Given the description of an element on the screen output the (x, y) to click on. 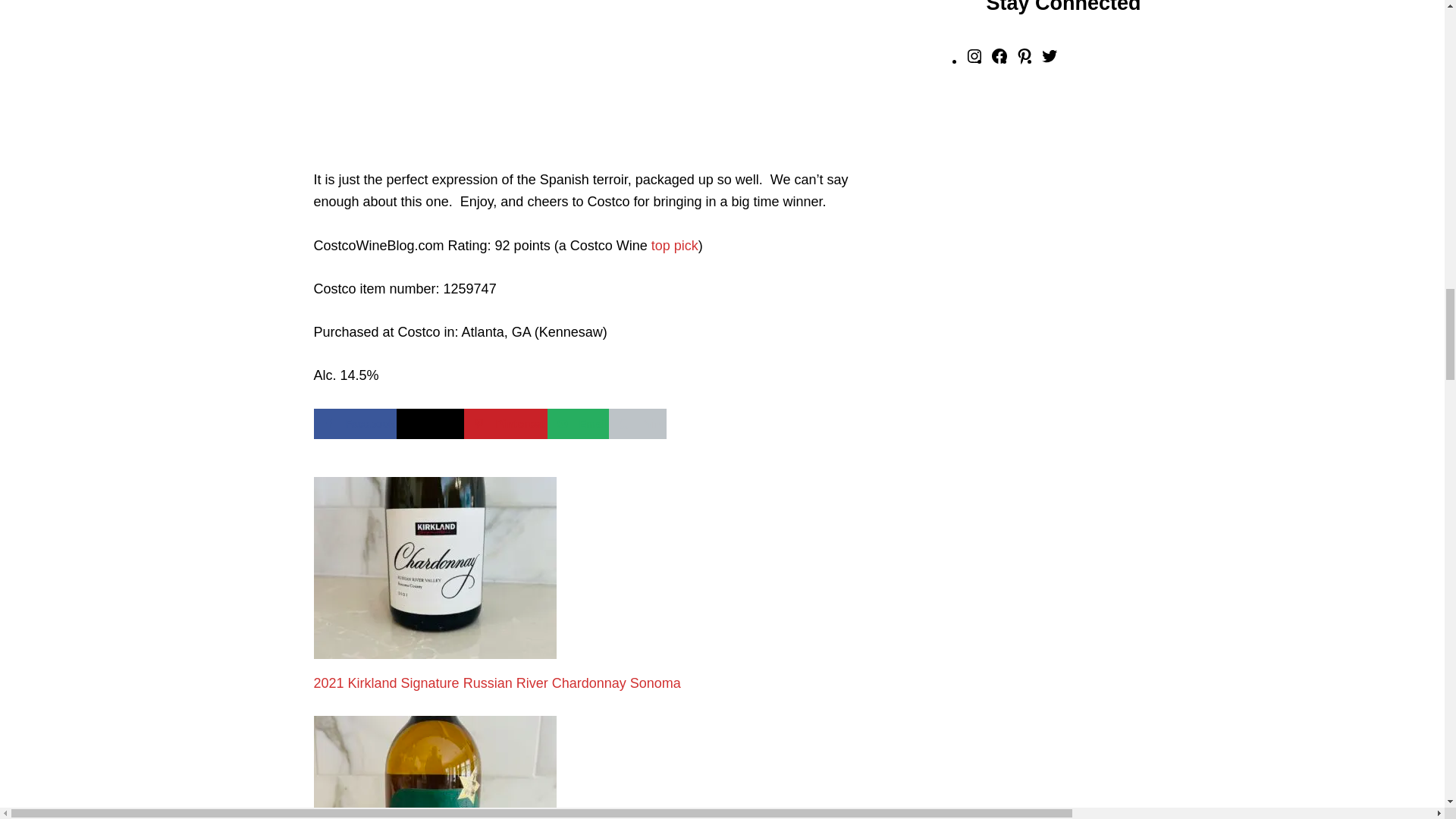
Share on Facebook (355, 422)
Send over email (577, 422)
Facebook (355, 422)
Save to Pinterest (505, 422)
top pick (674, 245)
Share on X (430, 422)
Print this webpage (637, 422)
